Given the description of an element on the screen output the (x, y) to click on. 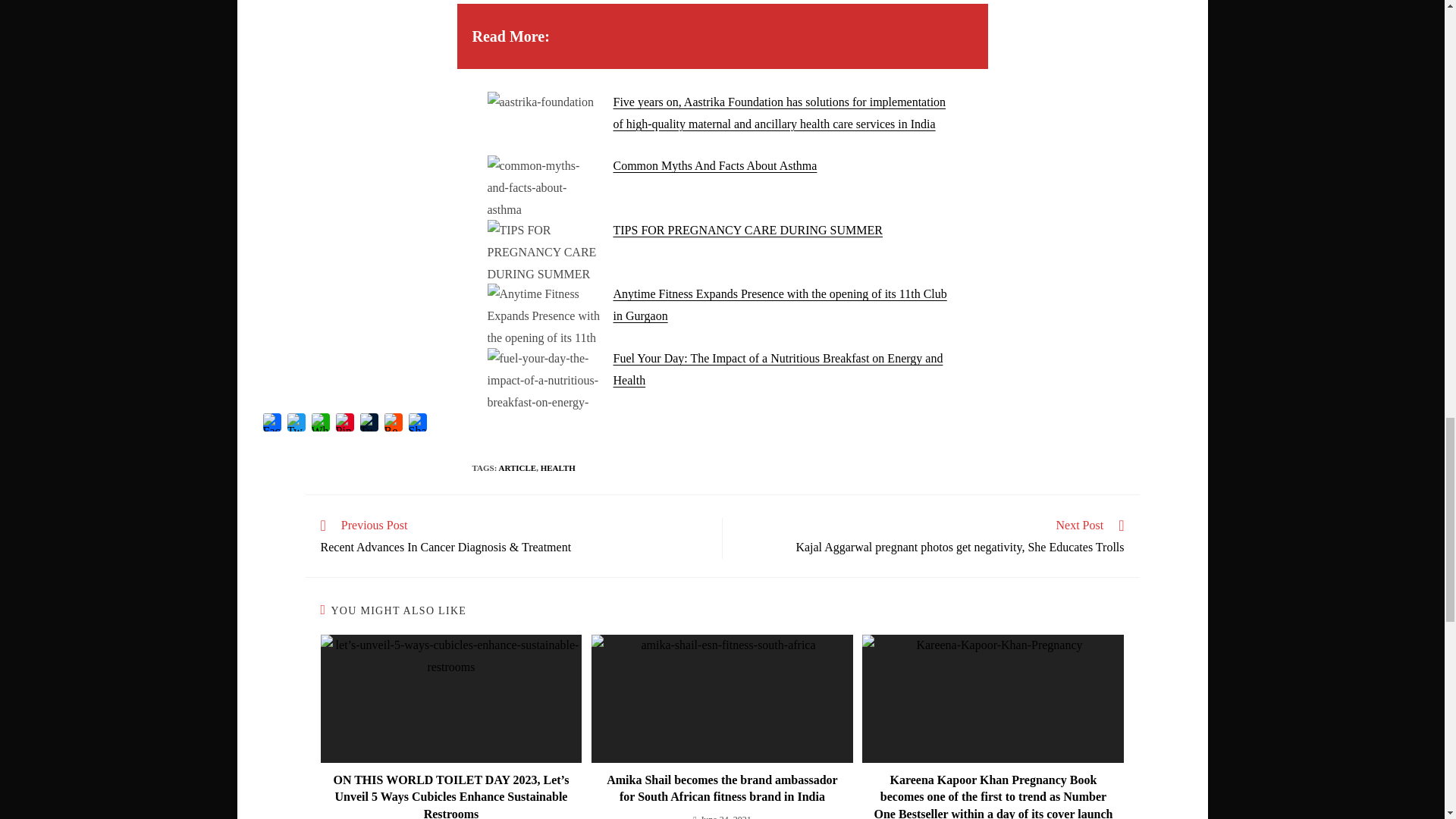
Facebook (271, 423)
Tumblr (368, 423)
WhatsApp (319, 423)
Pinterest (343, 423)
Twitter (295, 423)
